Given the description of an element on the screen output the (x, y) to click on. 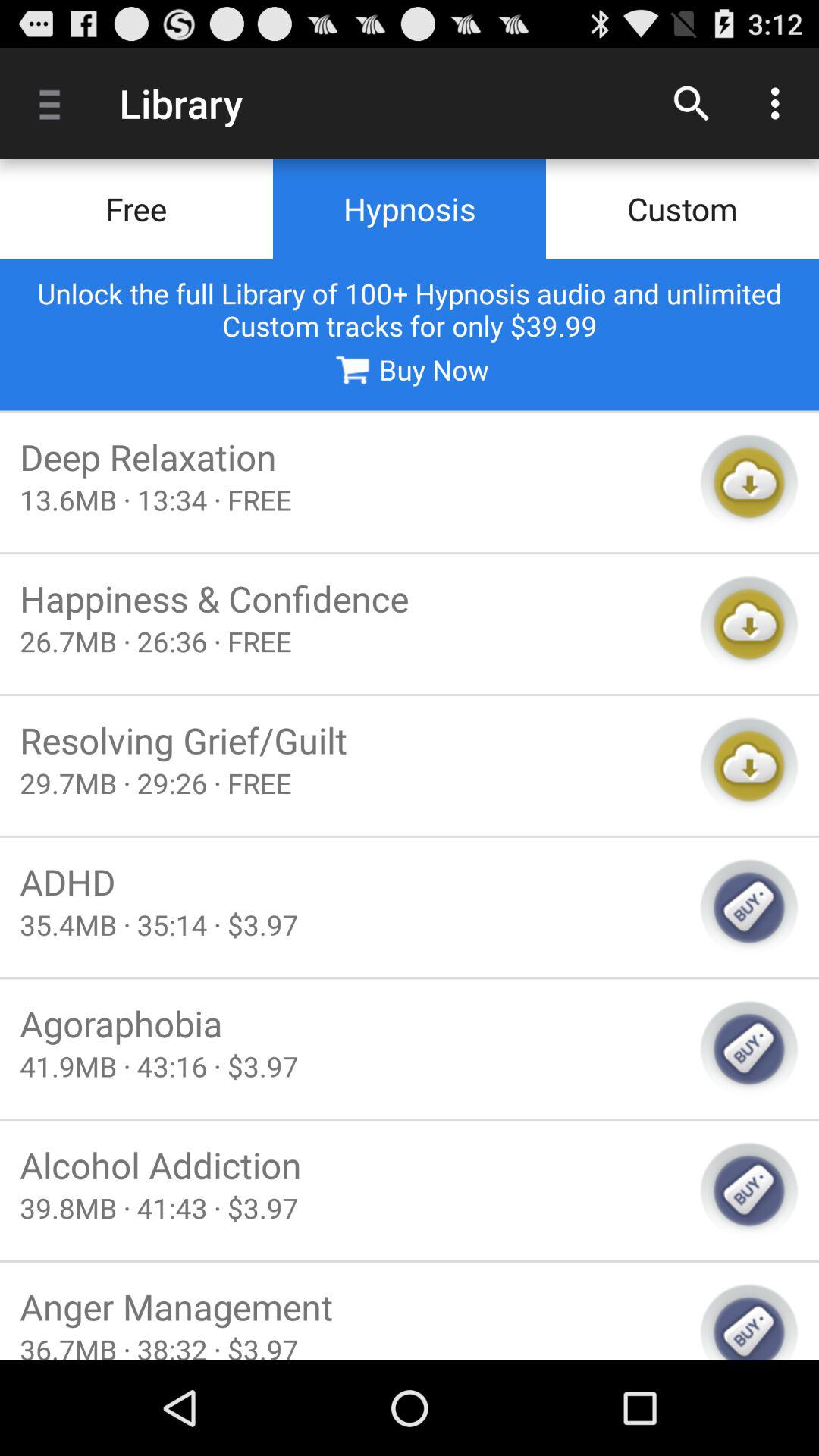
tap 35 4mb 35 (349, 924)
